Given the description of an element on the screen output the (x, y) to click on. 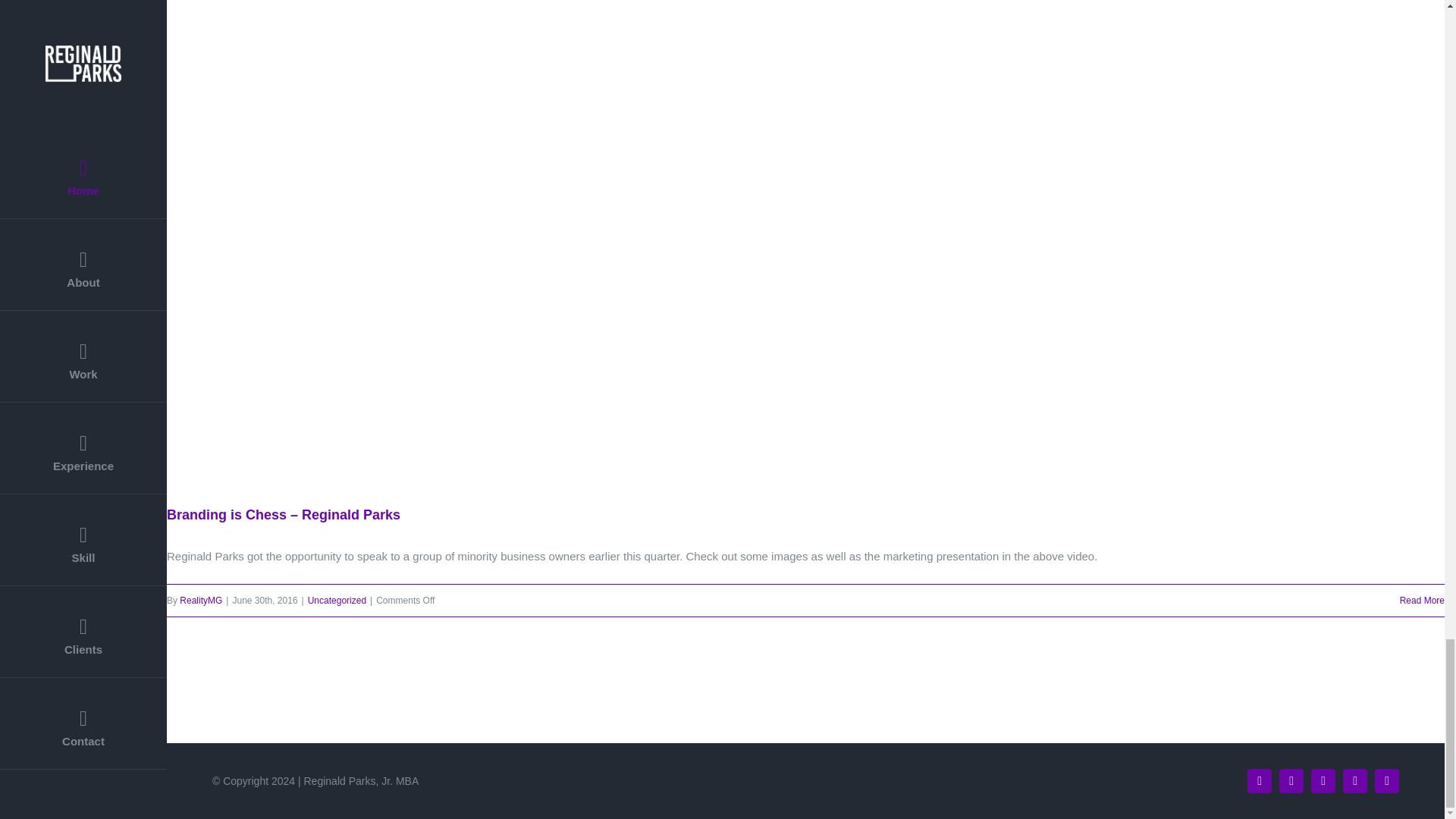
YouTube (1323, 781)
RealityMG (200, 600)
Twitter (1259, 781)
Facebook (1386, 781)
Instagram (1291, 781)
LinkedIn (1354, 781)
Posts by RealityMG (200, 600)
Uncategorized (336, 600)
